Given the description of an element on the screen output the (x, y) to click on. 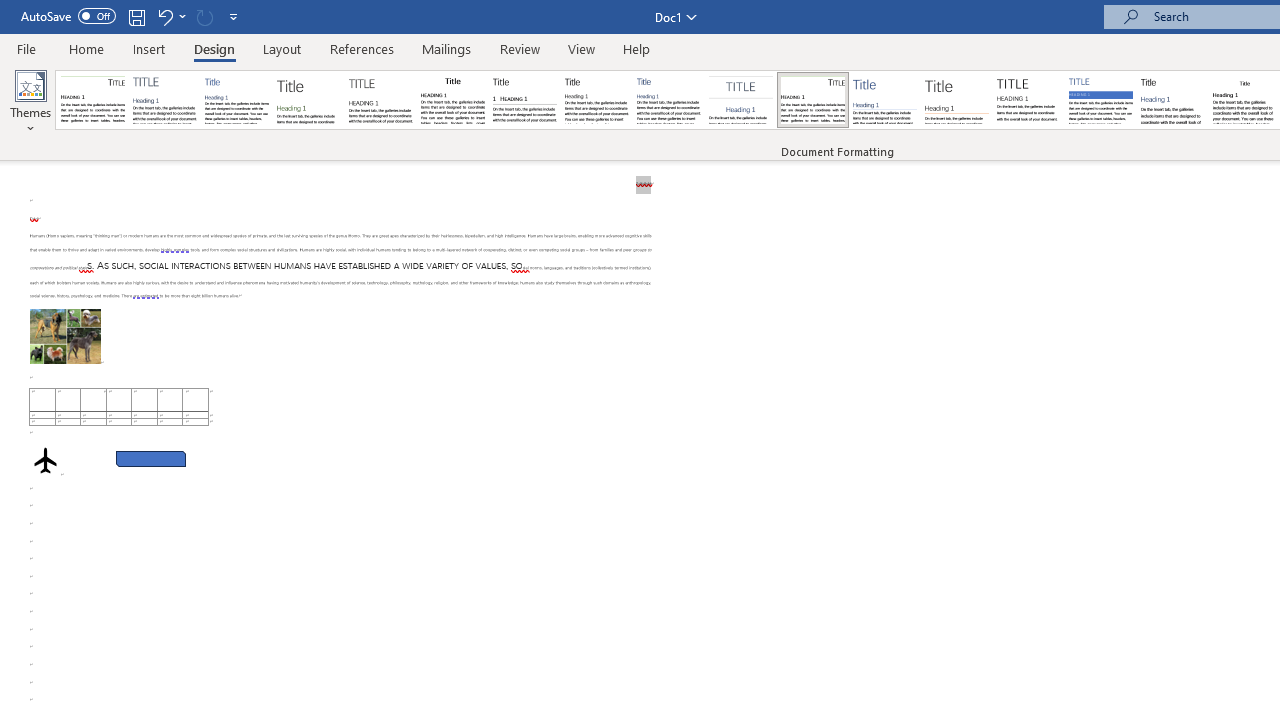
Centered (740, 100)
Word (1172, 100)
Minimalist (1028, 100)
Undo Apply Quick Style Set (170, 15)
Rectangle: Diagonal Corners Snipped 2 (150, 458)
Lines (Simple) (884, 100)
Shaded (1100, 100)
Themes (30, 102)
